Given the description of an element on the screen output the (x, y) to click on. 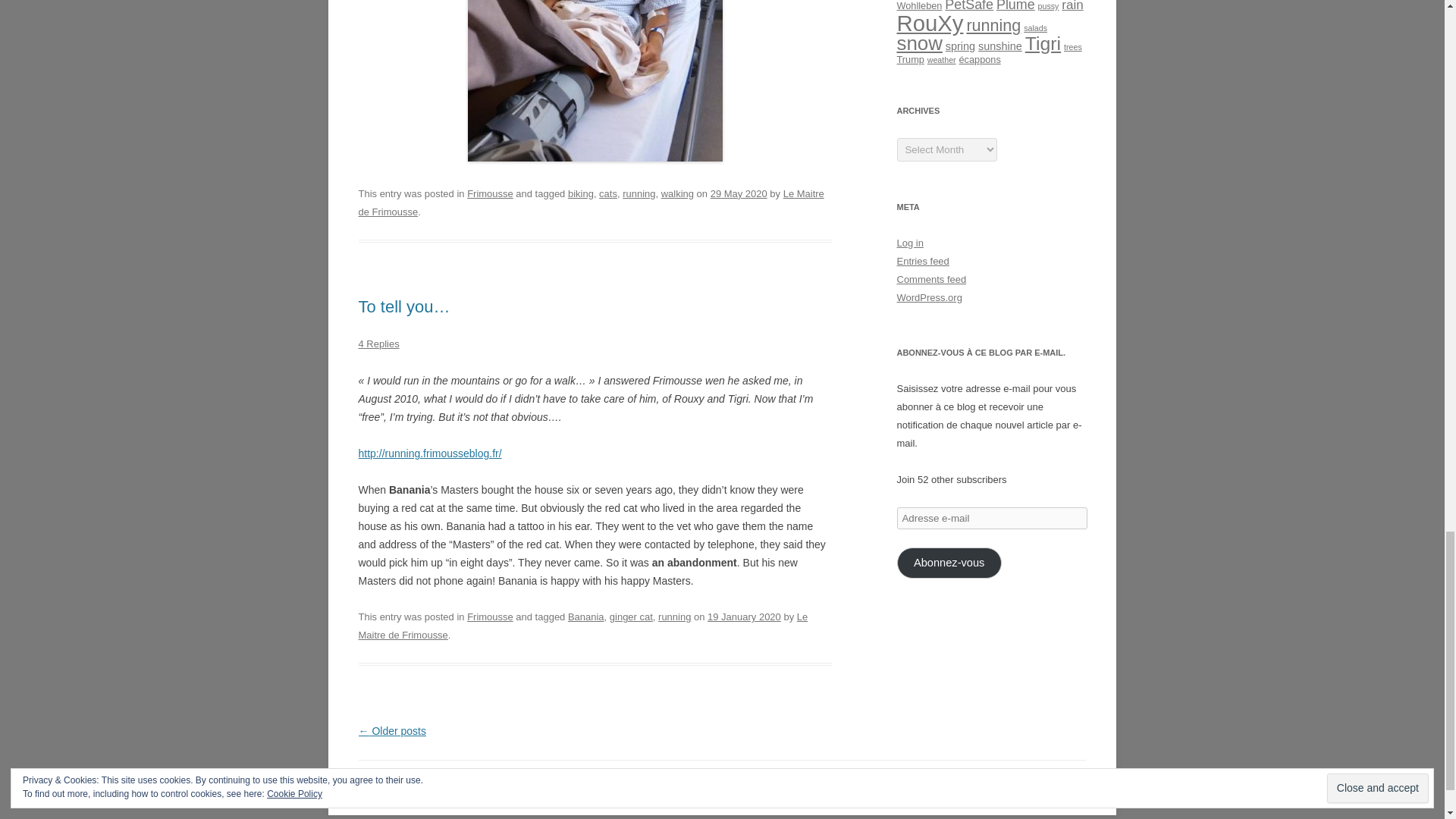
4 Replies (378, 343)
Banania (585, 616)
Frimousse (490, 616)
cats (607, 193)
Le Maitre de Frimousse (591, 202)
Frimousse (490, 193)
29 May 2020 (738, 193)
15:04 (738, 193)
15:54 (743, 616)
walking (677, 193)
